Given the description of an element on the screen output the (x, y) to click on. 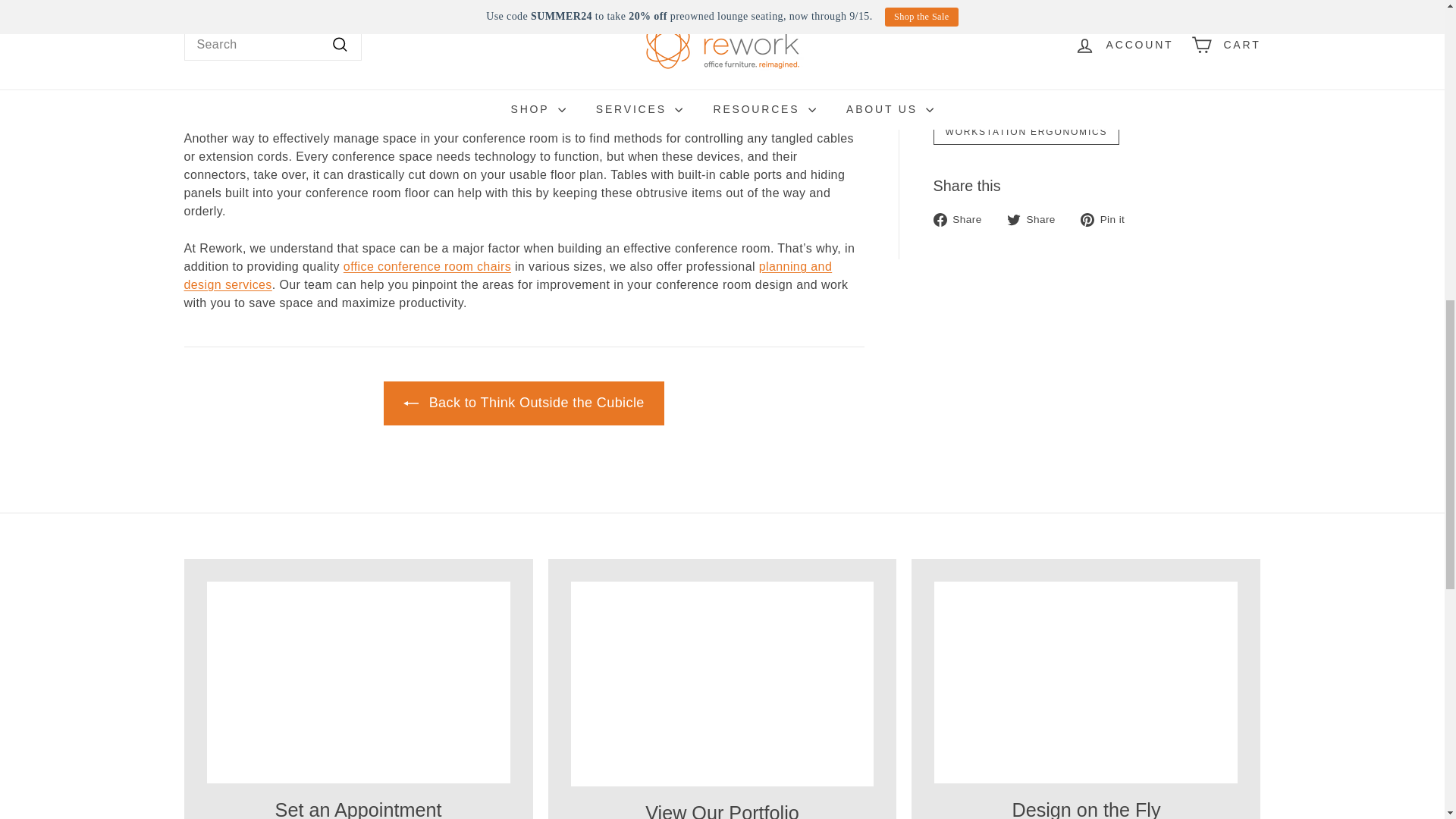
Pin on Pinterest (1107, 219)
twitter (1013, 219)
Share on Facebook (962, 219)
icon-left-arrow (411, 403)
Tweet on Twitter (1037, 219)
